Given the description of an element on the screen output the (x, y) to click on. 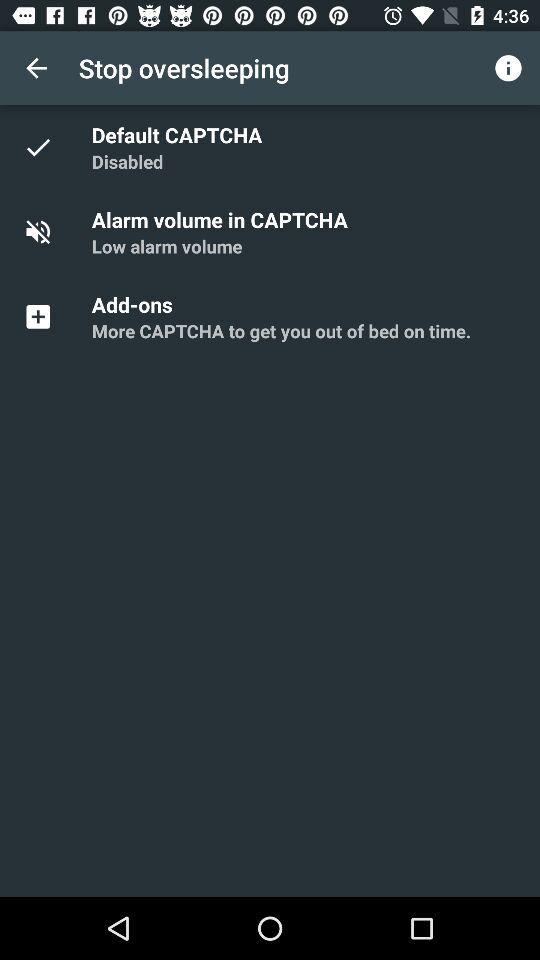
turn off the add-ons icon (135, 304)
